Given the description of an element on the screen output the (x, y) to click on. 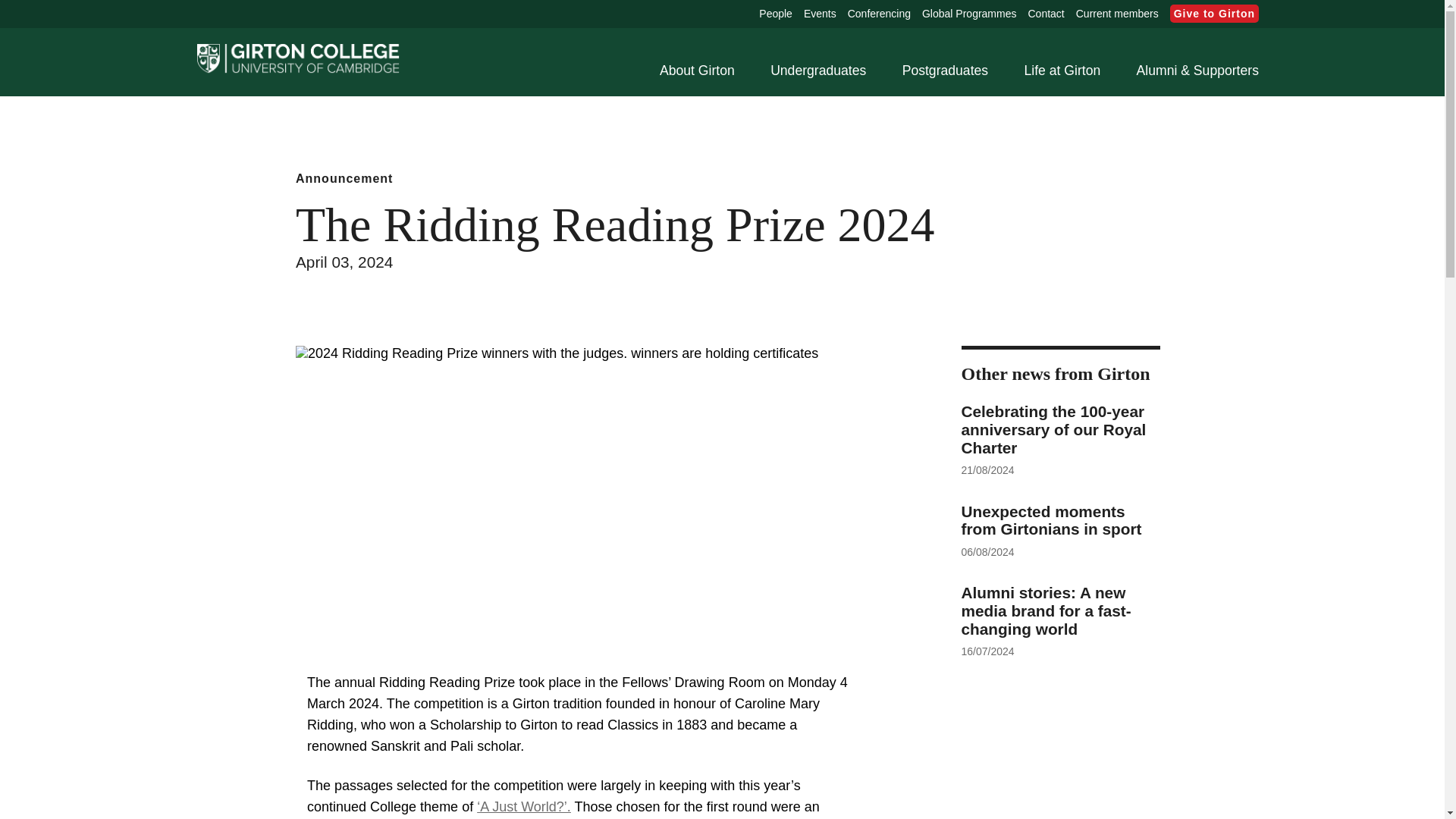
Contact (1045, 13)
Undergraduates (818, 70)
Conferencing (879, 13)
About Girton (697, 70)
People (775, 13)
Postgraduates (945, 70)
Global Programmes (968, 13)
Current members (1116, 13)
Give to Girton (1214, 13)
